Given the description of an element on the screen output the (x, y) to click on. 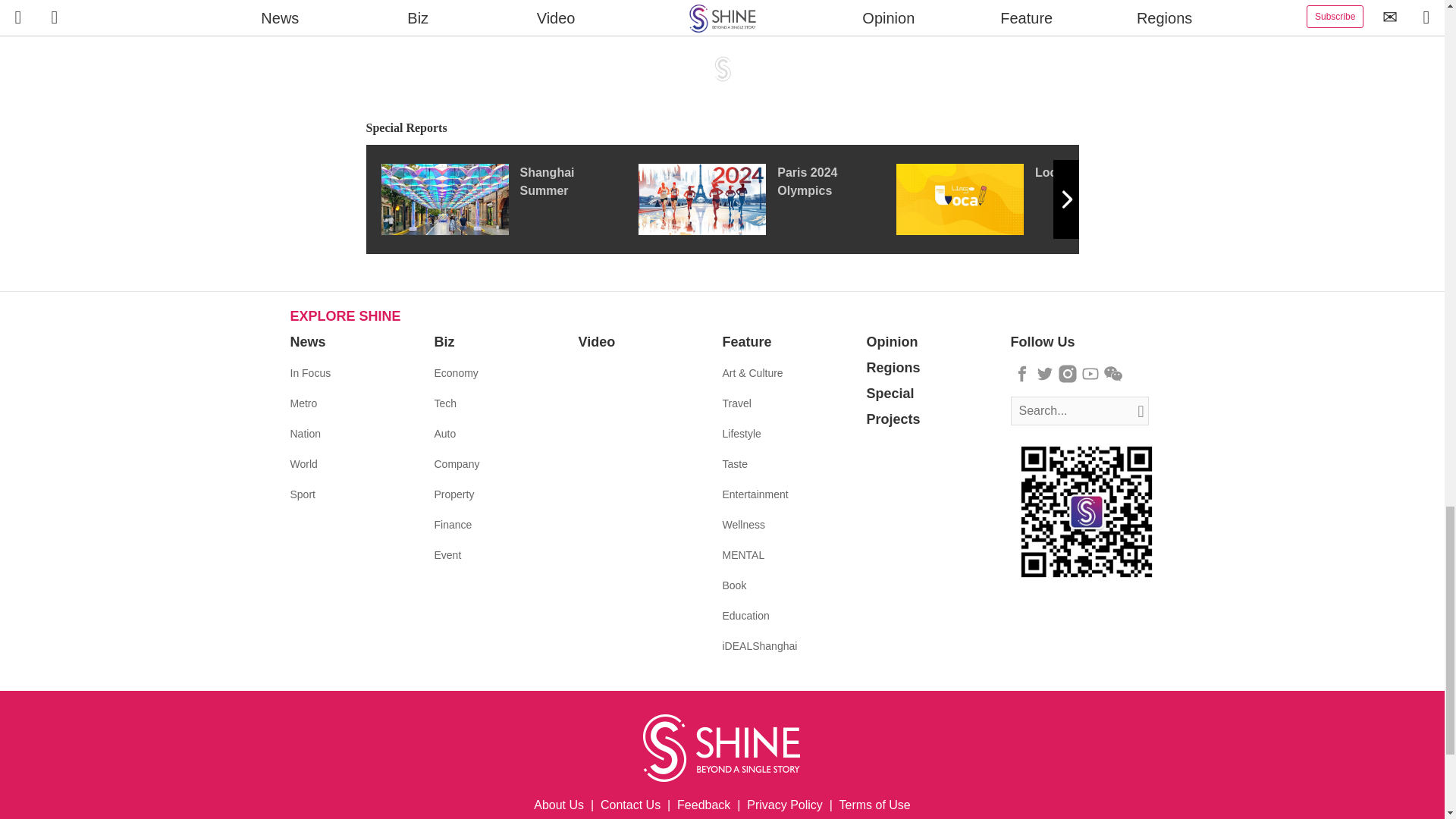
Default   (441, 2)
Follow us on Youtube (1090, 373)
Follow us on Instagram (1067, 373)
Special Reports (721, 128)
Local Lingo (1024, 199)
Follow us on Facebook (1021, 373)
Paris 2024 Olympics (767, 199)
Follow us on Twitter (1044, 373)
Shanghai Summer (508, 199)
Follow us on Wechat (1112, 373)
